Given the description of an element on the screen output the (x, y) to click on. 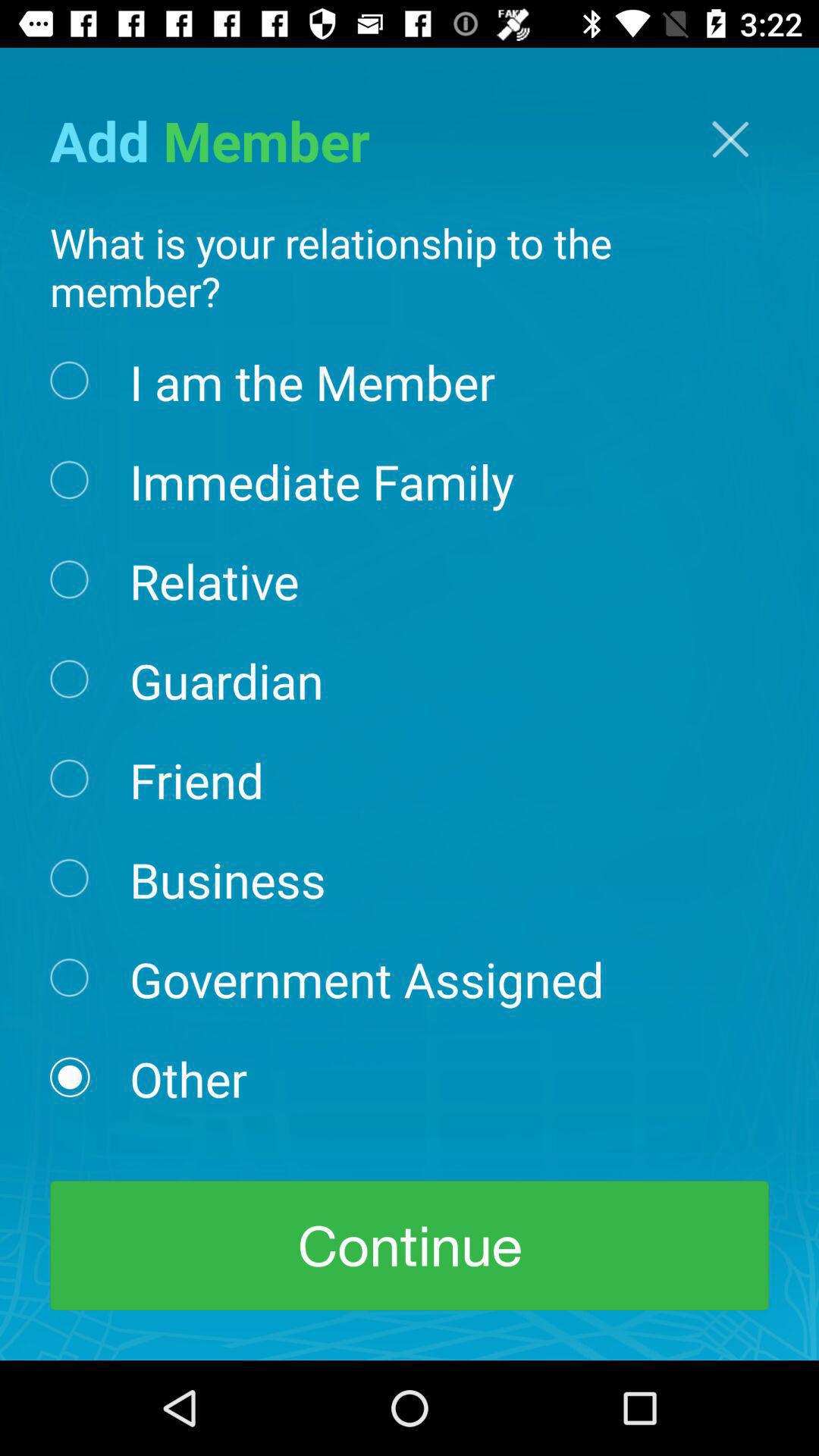
click close option (730, 139)
